Given the description of an element on the screen output the (x, y) to click on. 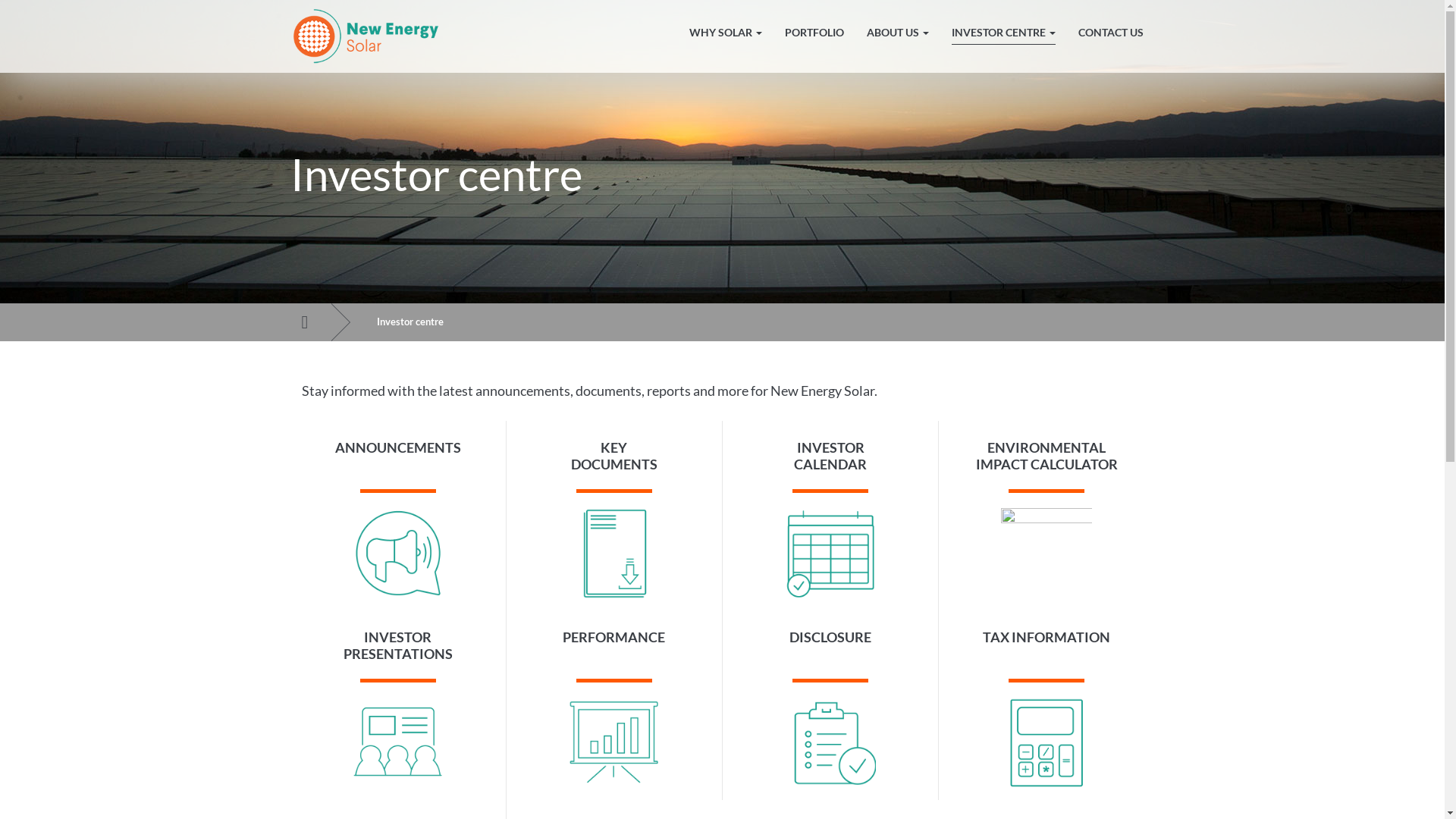
CONTACT US Element type: text (1110, 32)
WHY SOLAR Element type: text (725, 32)
PORTFOLIO Element type: text (814, 32)
ABOUT US Element type: text (897, 32)
Skip to main content Element type: text (0, 0)
New_Energy_Solar_Logo Element type: hover (370, 36)
INVESTOR CENTRE Element type: text (1003, 32)
